Given the description of an element on the screen output the (x, y) to click on. 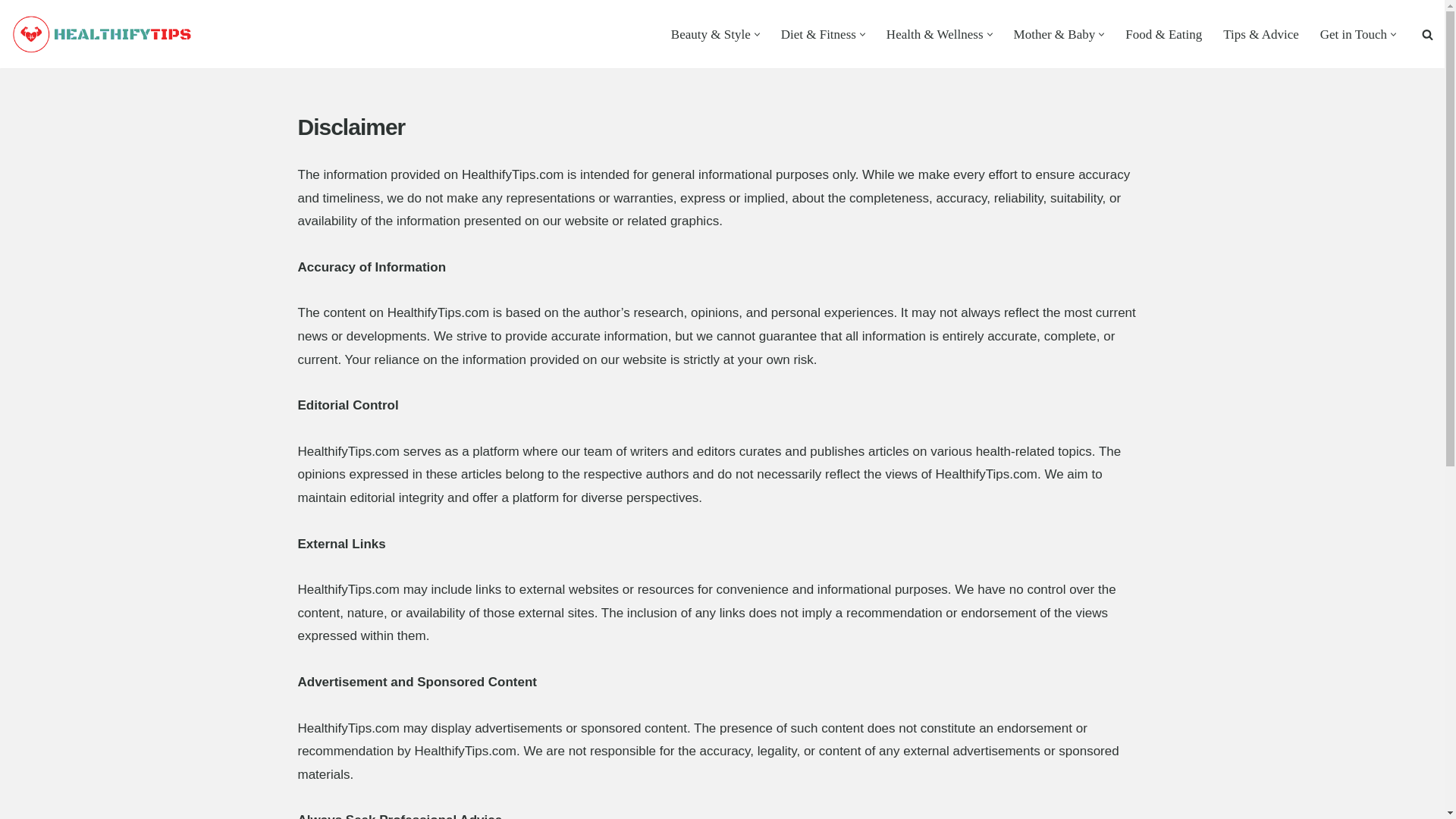
Skip to content (11, 31)
Get in Touch (1353, 34)
